Given the description of an element on the screen output the (x, y) to click on. 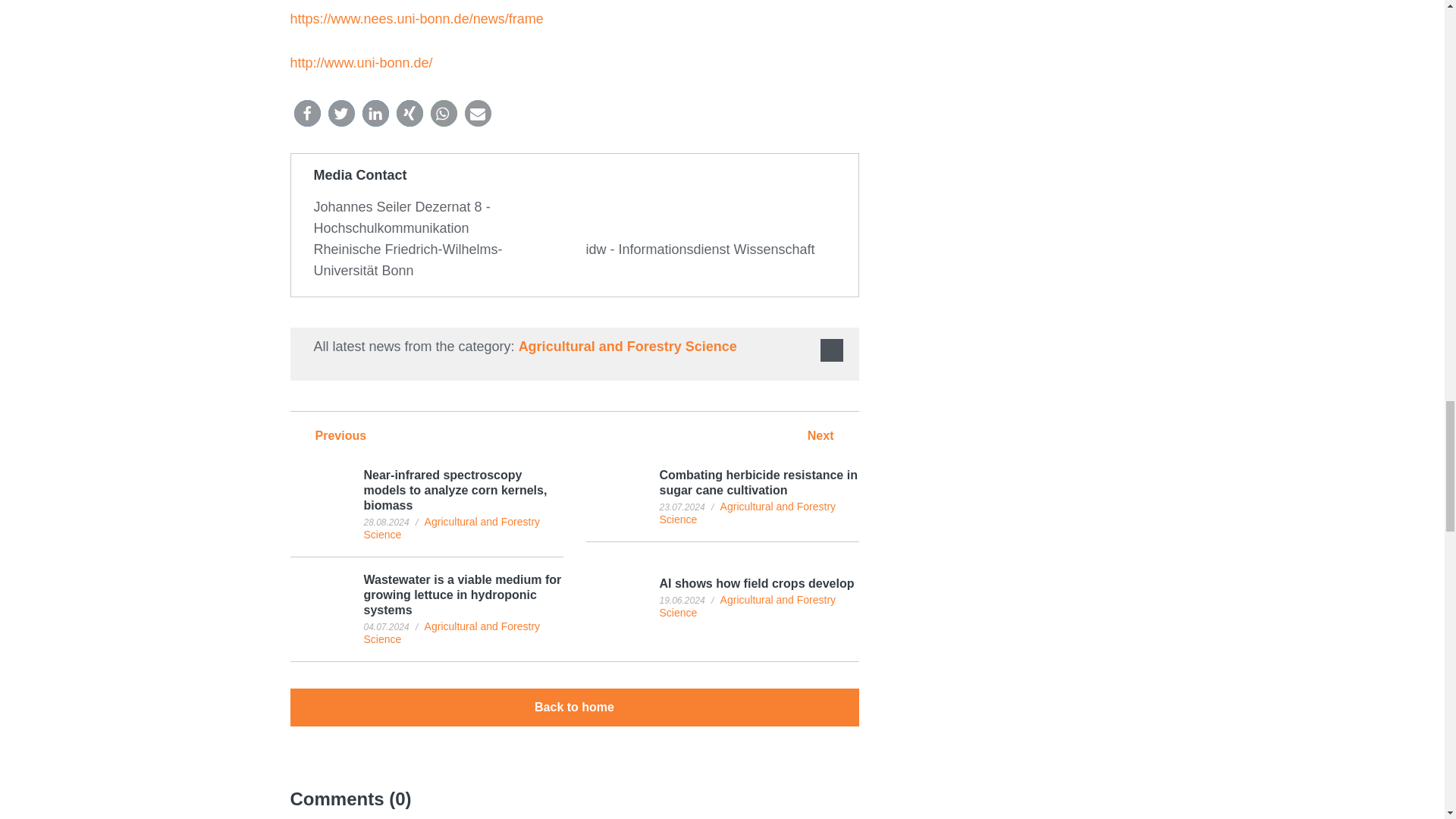
Share on Whatsapp (443, 112)
Share on XING (409, 112)
Share on LinkedIn (375, 112)
Share on Facebook (307, 112)
Send by email (477, 112)
Share on Twitter (340, 112)
